Given the description of an element on the screen output the (x, y) to click on. 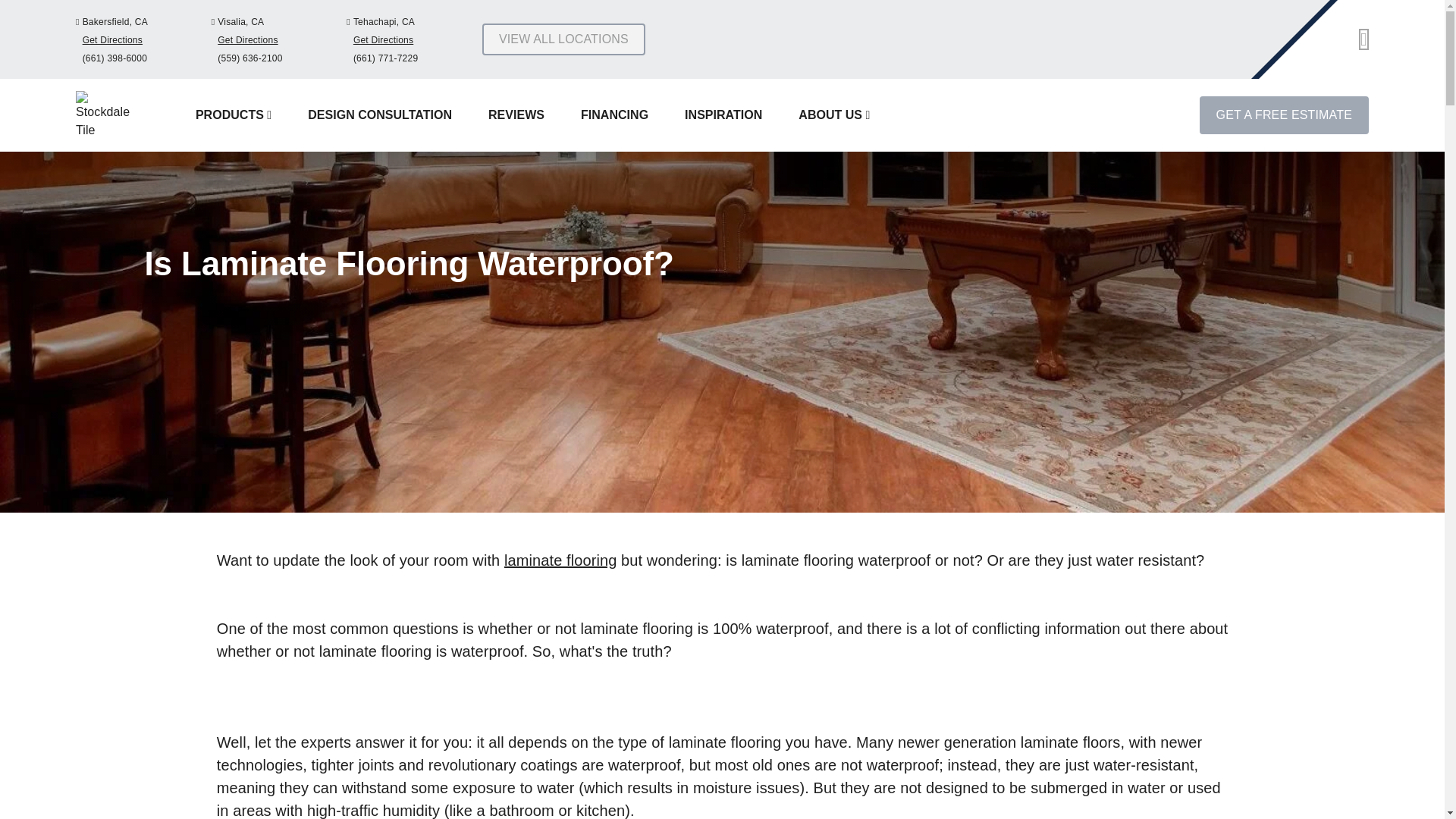
Search (1363, 38)
Get Directions (247, 40)
PRODUCTS (233, 114)
VIEW ALL LOCATIONS (563, 38)
Get Directions (112, 40)
Get Directions (383, 40)
